Given the description of an element on the screen output the (x, y) to click on. 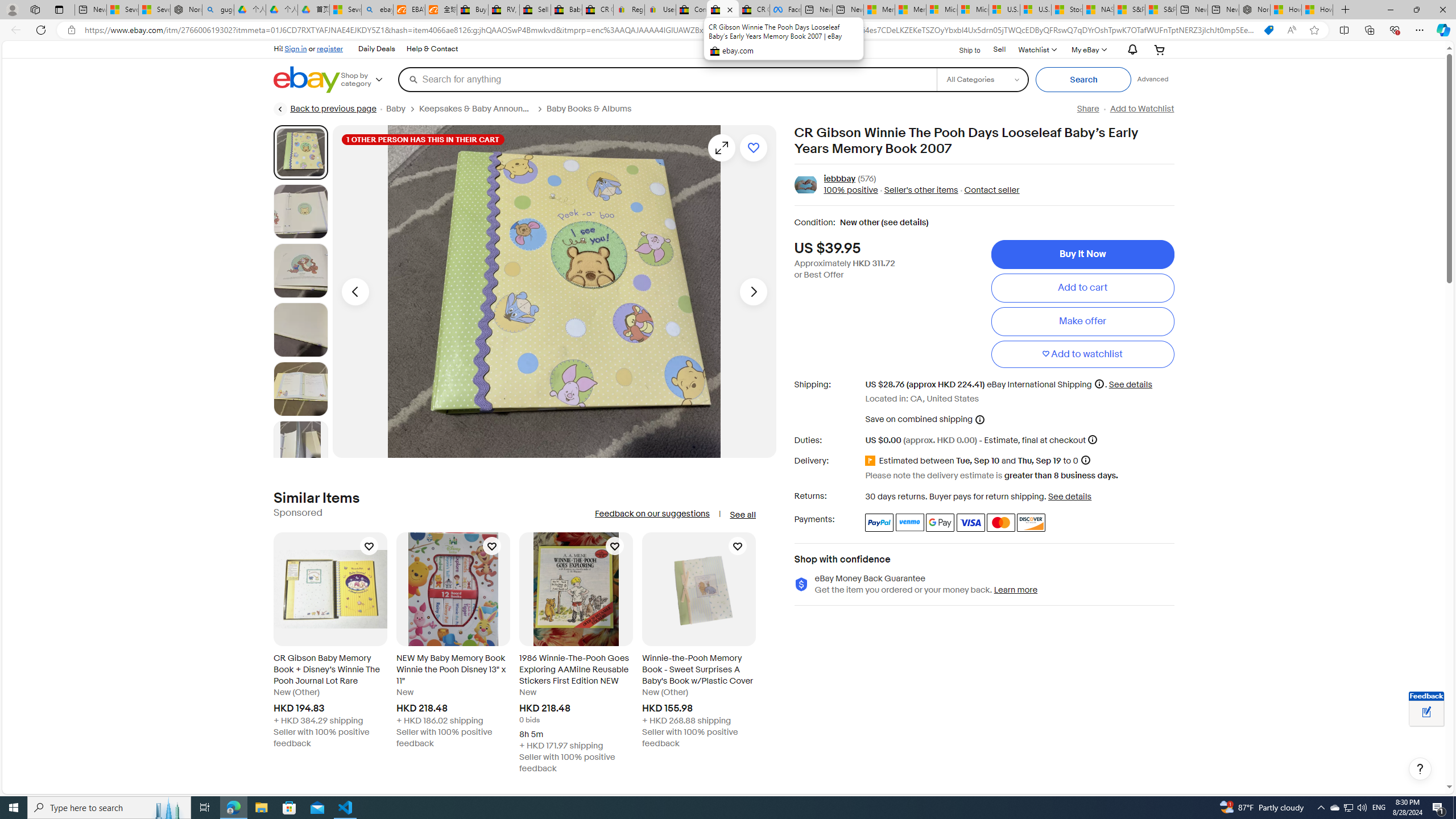
Advanced Search (1152, 78)
Next image - Item images thumbnails (753, 291)
Information - Estimated delivery date - opens a layer (1085, 460)
Back (13, 29)
Add this page to favorites (Ctrl+D) (1314, 29)
Select a category for search (981, 78)
Class: ux-action (804, 184)
Baby (395, 108)
Buy Auto Parts & Accessories | eBay (472, 9)
Picture 4 of 22 (300, 329)
Collections (1369, 29)
Add to cart (1082, 287)
Daily Deals (376, 49)
View site information (70, 29)
